Given the description of an element on the screen output the (x, y) to click on. 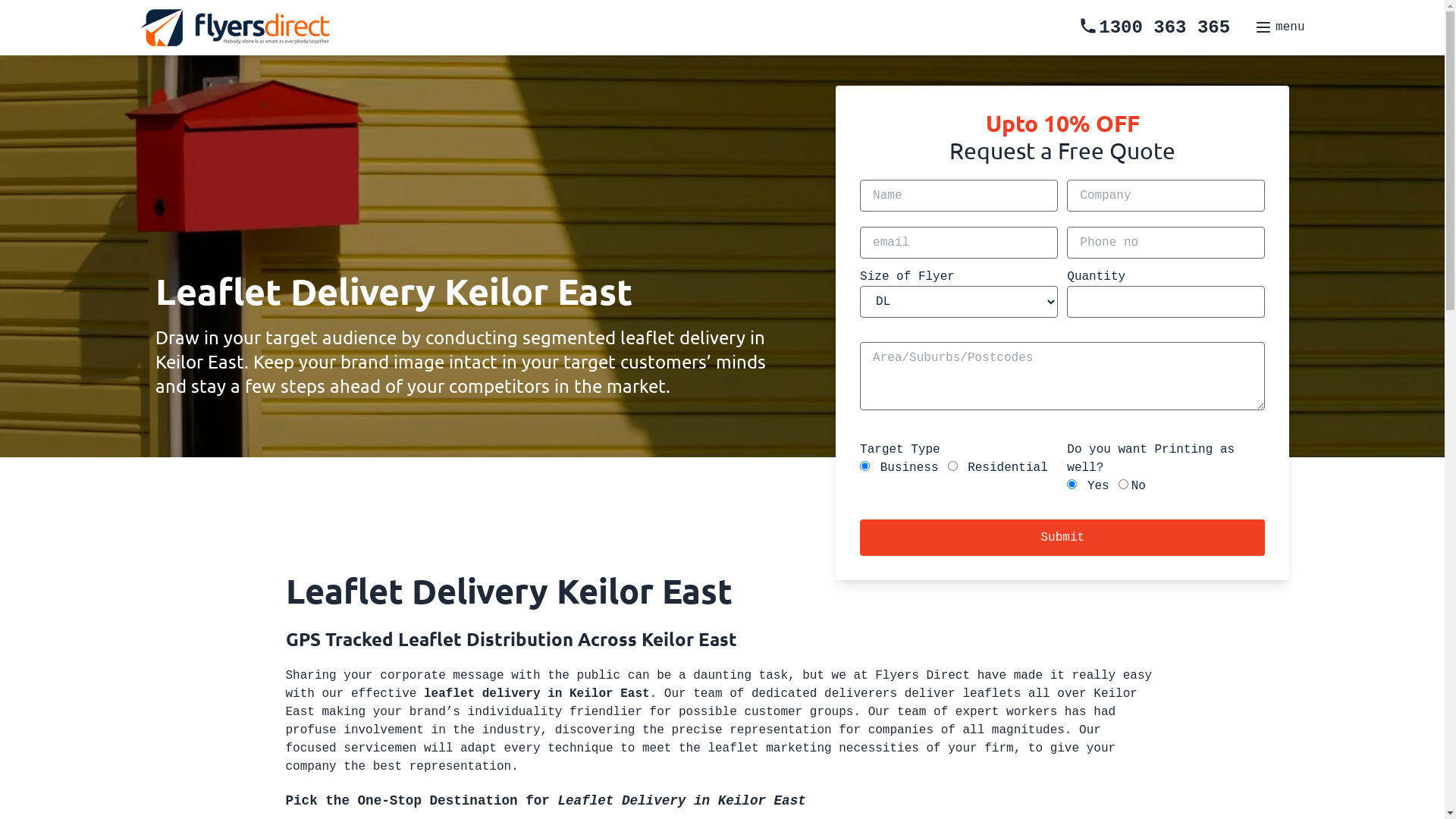
Home Element type: text (752, 420)
menu Element type: text (1279, 27)
Leaflet Delivery Element type: text (793, 420)
AVAIL NOW Element type: text (787, 427)
Contact Element type: text (760, 420)
Blog Element type: text (746, 420)
Submit Element type: text (1061, 537)
1300 363 365 Element type: text (1153, 27)
